Given the description of an element on the screen output the (x, y) to click on. 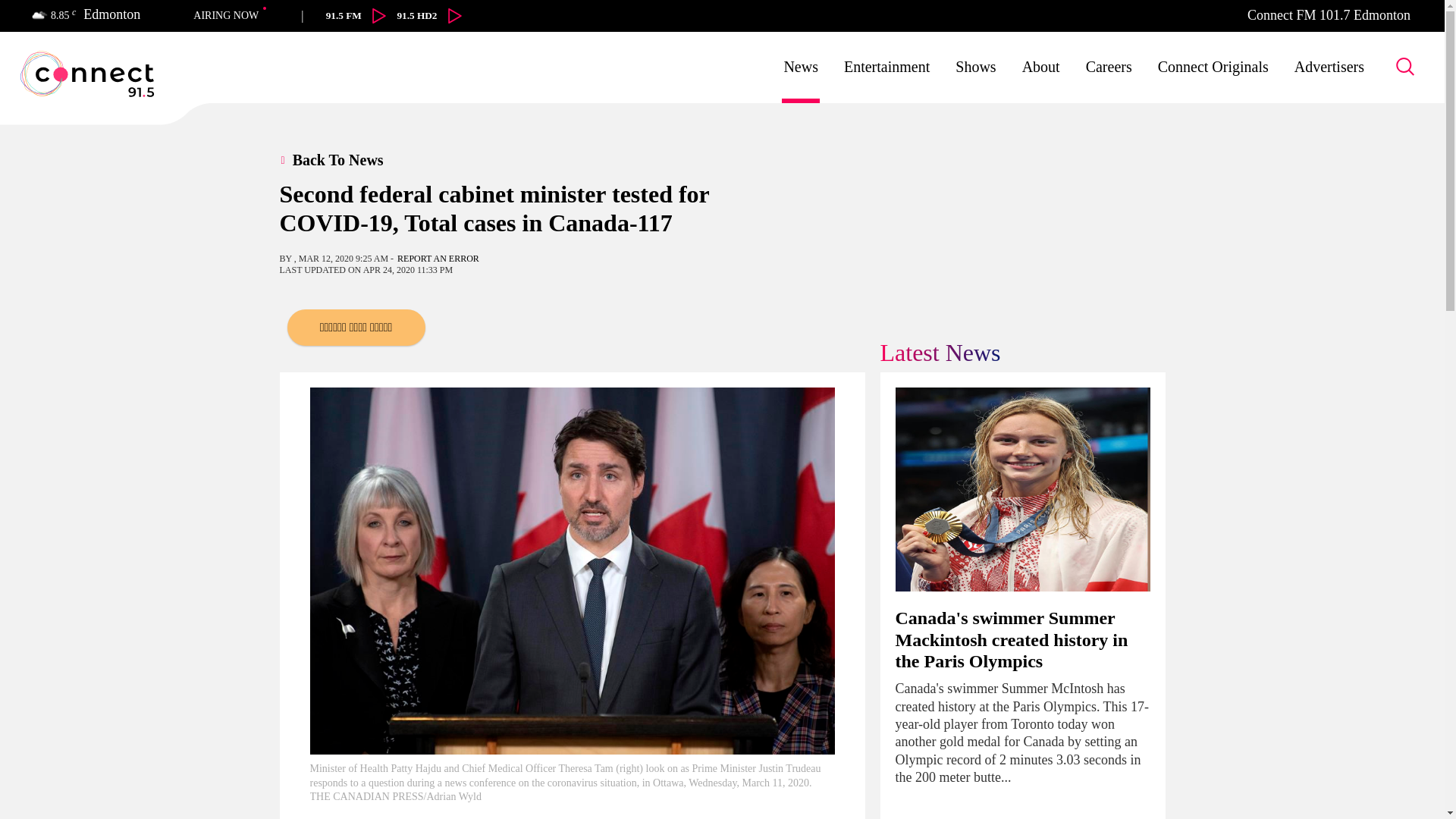
Entertainment (887, 66)
Connect FM 101.7 Edmonton (1328, 14)
Play (454, 15)
REPORT AN ERROR (438, 258)
Back To News (349, 159)
Play (379, 15)
Connect Originals (1212, 66)
Advertisers (1328, 66)
Play (330, 15)
Play (430, 15)
